Given the description of an element on the screen output the (x, y) to click on. 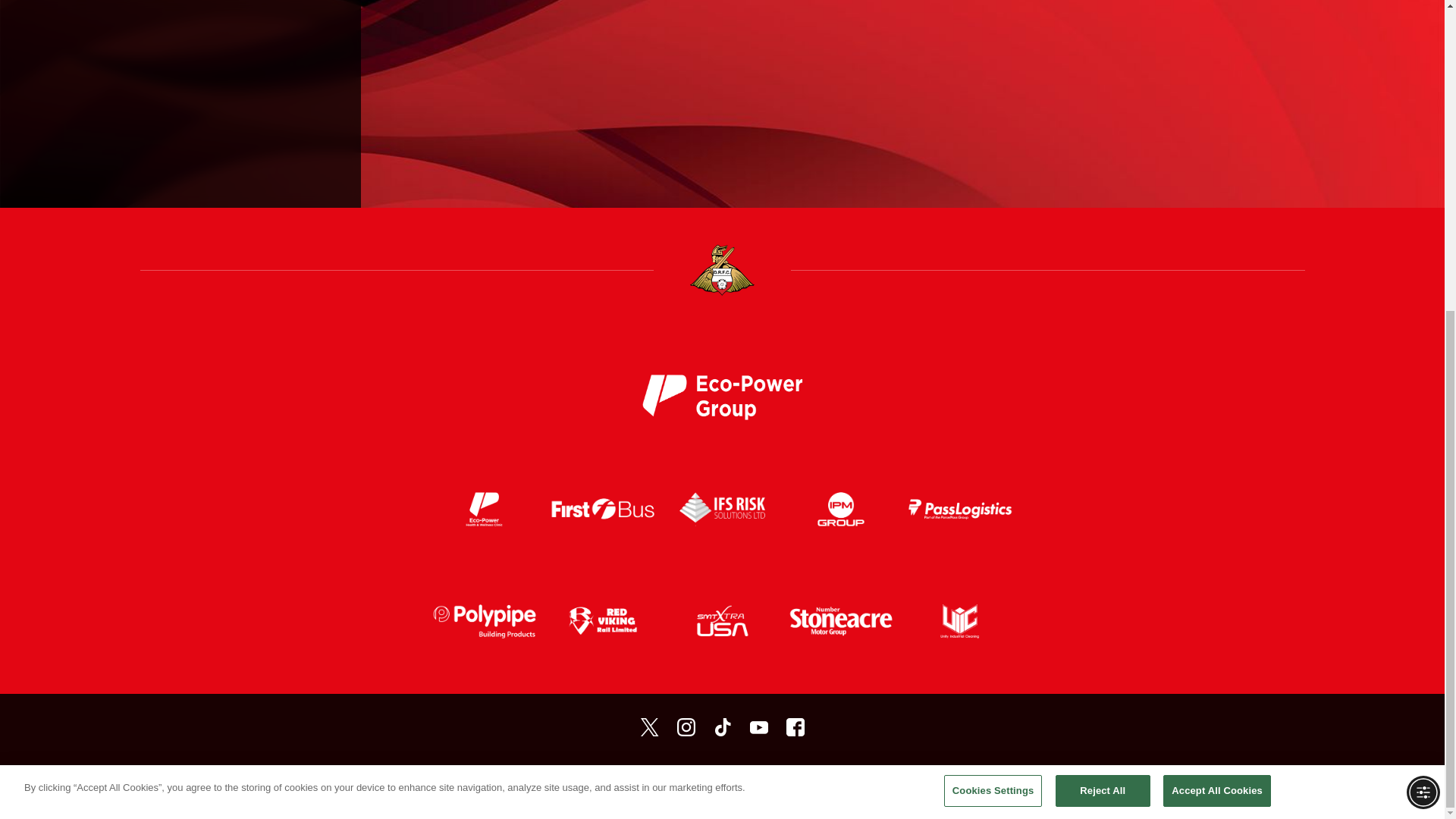
Privacy Policy (648, 778)
Company Details (796, 778)
Accessibility Menu (1422, 299)
Accessibility (719, 778)
Accessibility (719, 778)
Reject All (1102, 297)
Company Details (796, 778)
Accept All Cookies (1217, 297)
Contact Us (872, 778)
Contact Us (872, 778)
Terms of Use (575, 778)
Cookies Settings (992, 297)
doncasterroversfc (794, 726)
Privacy Policy (648, 778)
Terms of Use (575, 778)
